Given the description of an element on the screen output the (x, y) to click on. 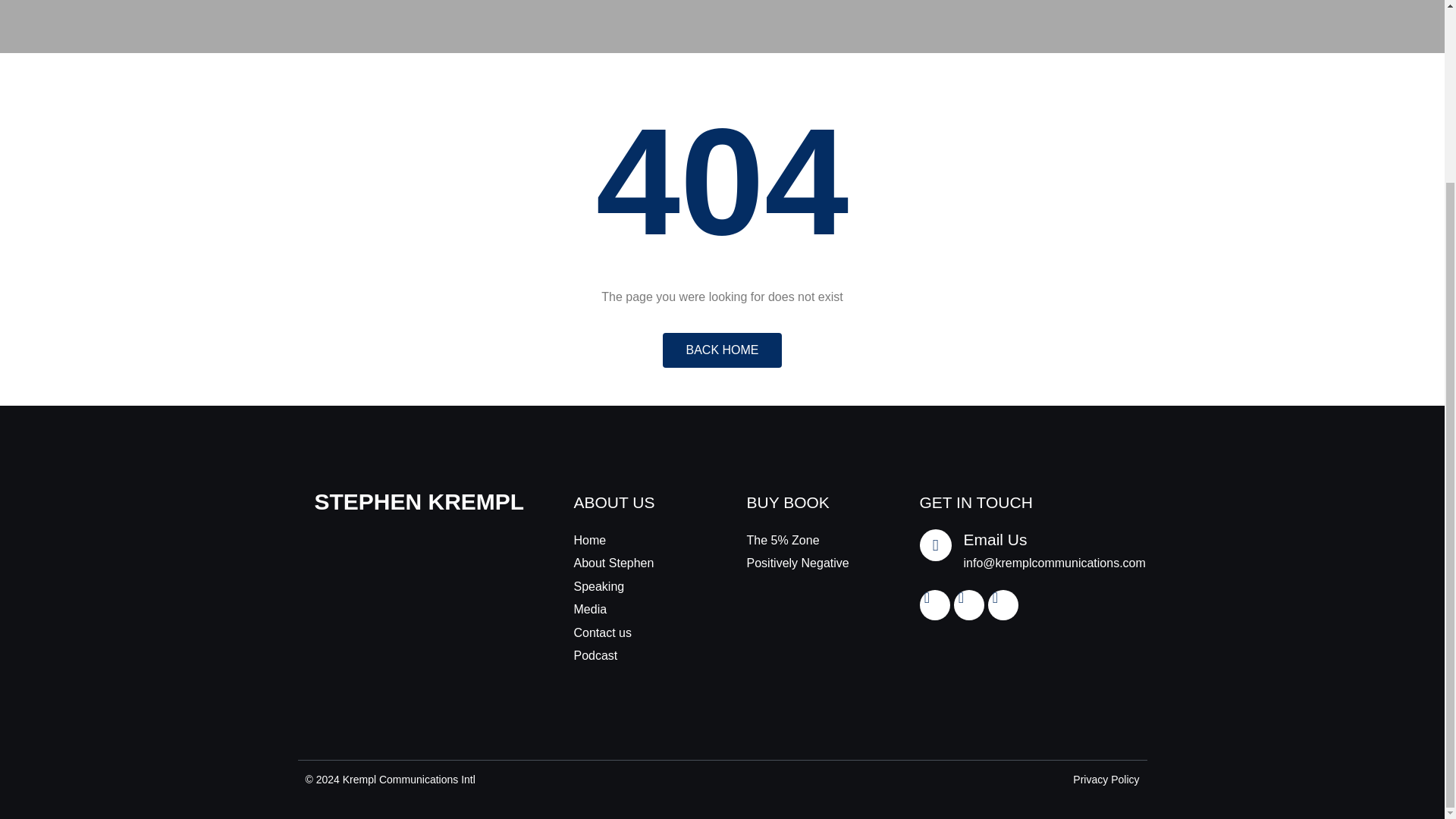
Privacy Policy (1105, 779)
Home (635, 540)
Contact us (635, 632)
Podcast (635, 655)
About Stephen (635, 563)
Positively Negative (807, 563)
Media (635, 609)
Speaking (635, 586)
BACK HOME (721, 349)
